Given the description of an element on the screen output the (x, y) to click on. 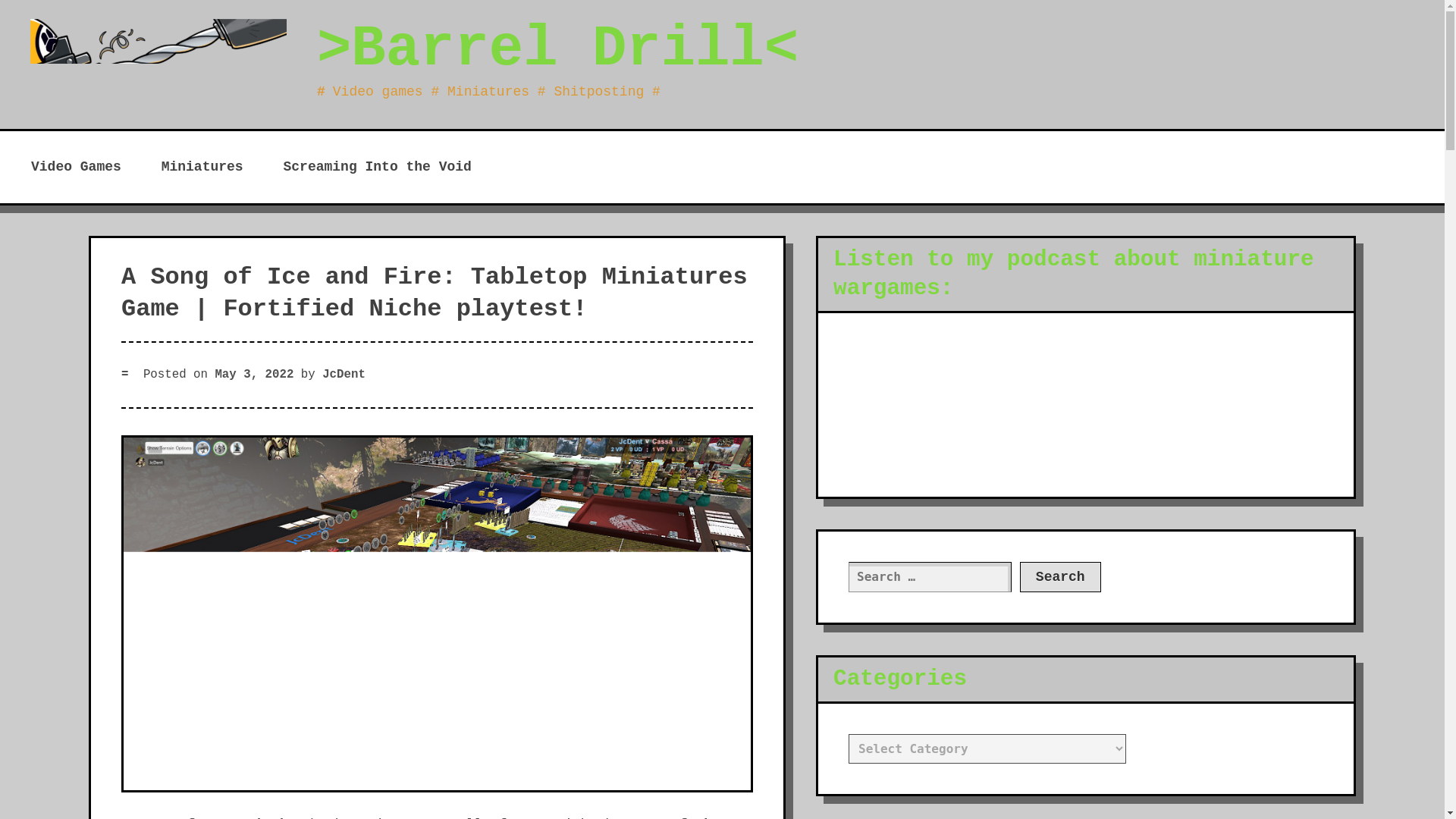
Video Games (75, 167)
JcDent (343, 374)
Search (1060, 576)
Search (1060, 576)
Miniatures (202, 167)
Screaming Into the Void (376, 167)
Search (1060, 576)
May 3, 2022 (254, 374)
